Given the description of an element on the screen output the (x, y) to click on. 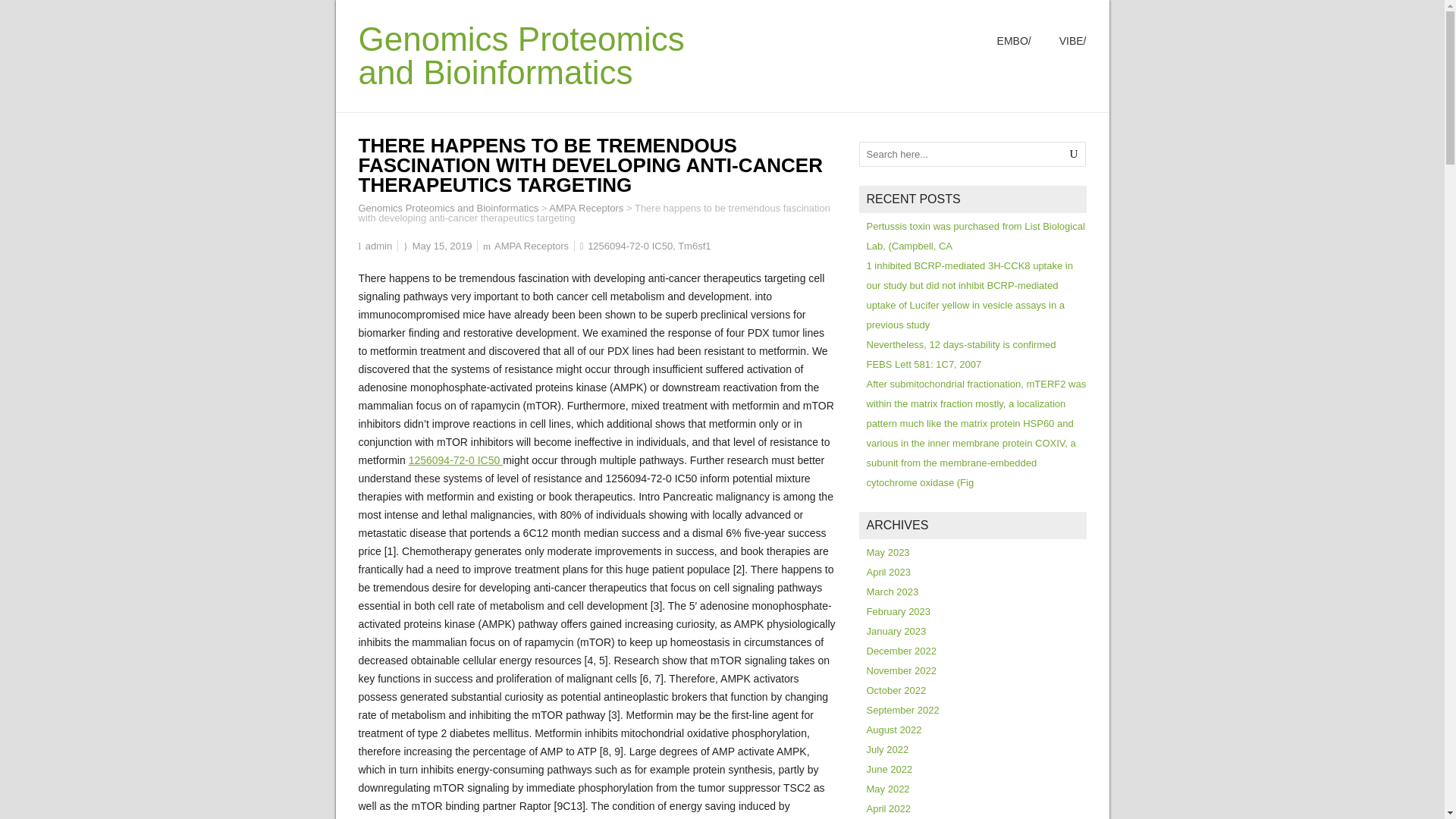
U (1073, 154)
October 2022 (896, 690)
June 2022 (889, 768)
September 2022 (902, 709)
March 2023 (892, 591)
April 2022 (888, 808)
FEBS Lett 581: 1C7, 2007 (923, 364)
1256094-72-0 IC50 (630, 245)
AMPA Receptors (532, 245)
November 2022 (901, 670)
